Given the description of an element on the screen output the (x, y) to click on. 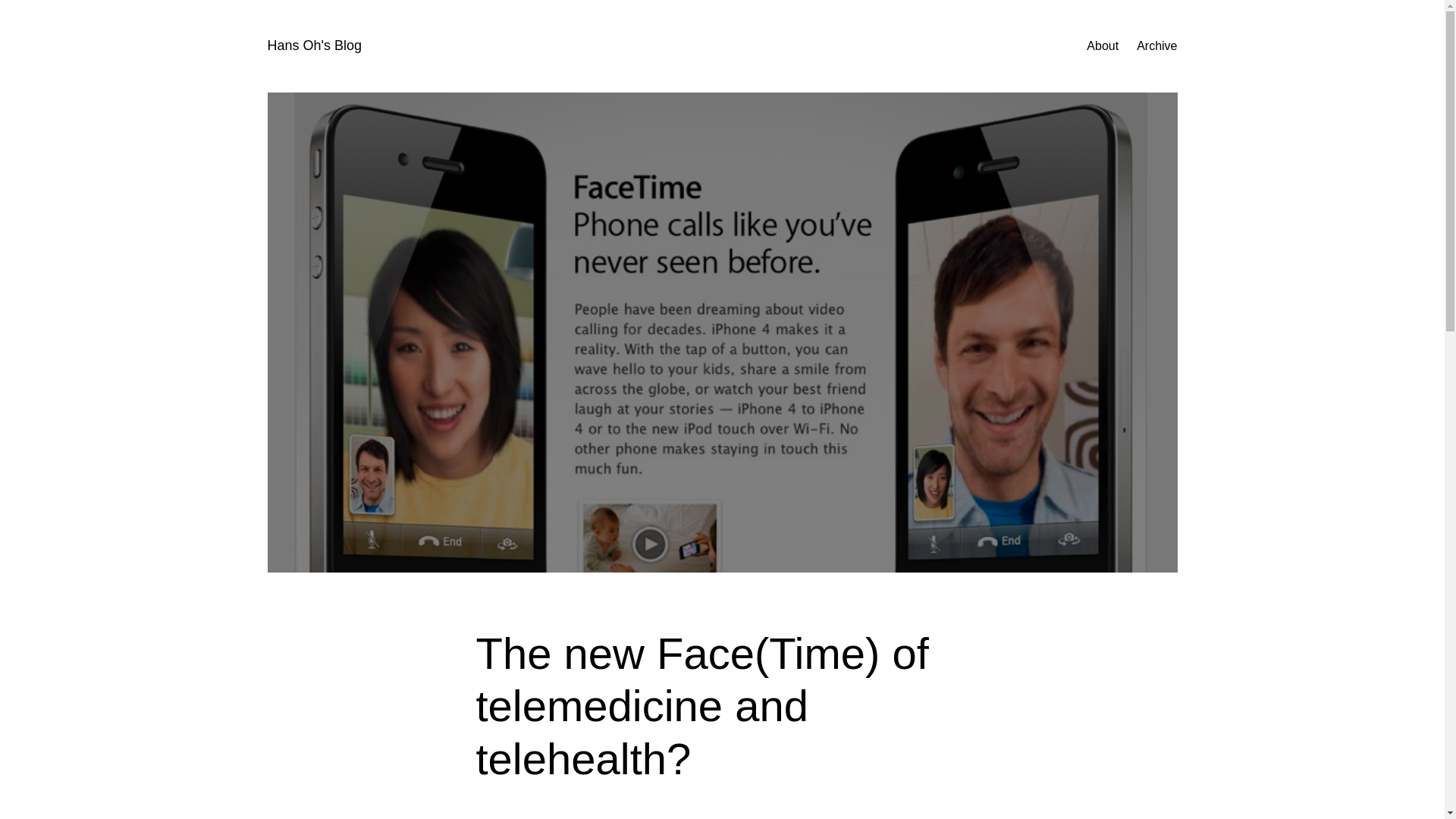
Hans Oh's Blog (313, 45)
About (1102, 46)
Archive (1156, 46)
